Given the description of an element on the screen output the (x, y) to click on. 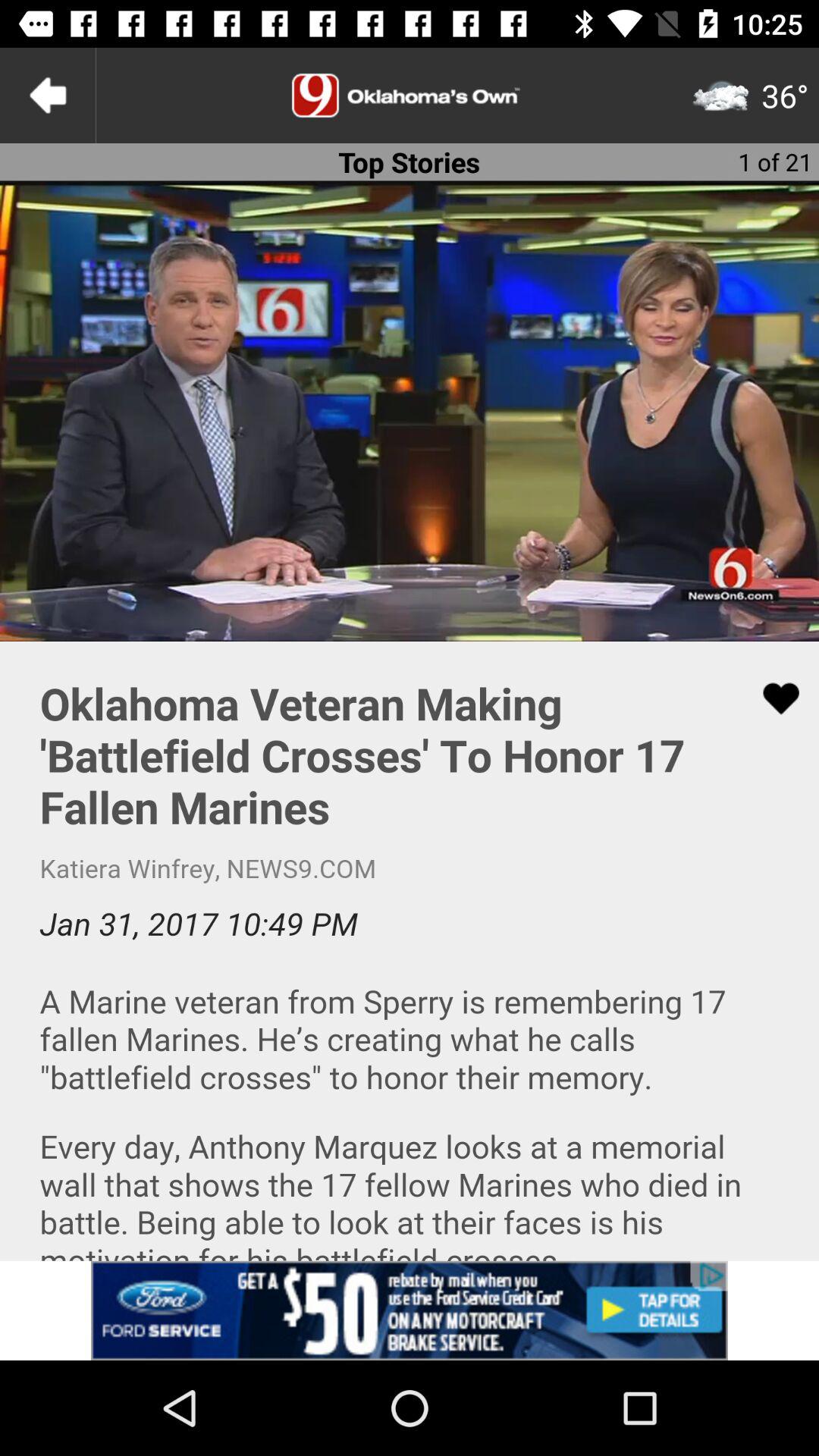
like the article (771, 698)
